Given the description of an element on the screen output the (x, y) to click on. 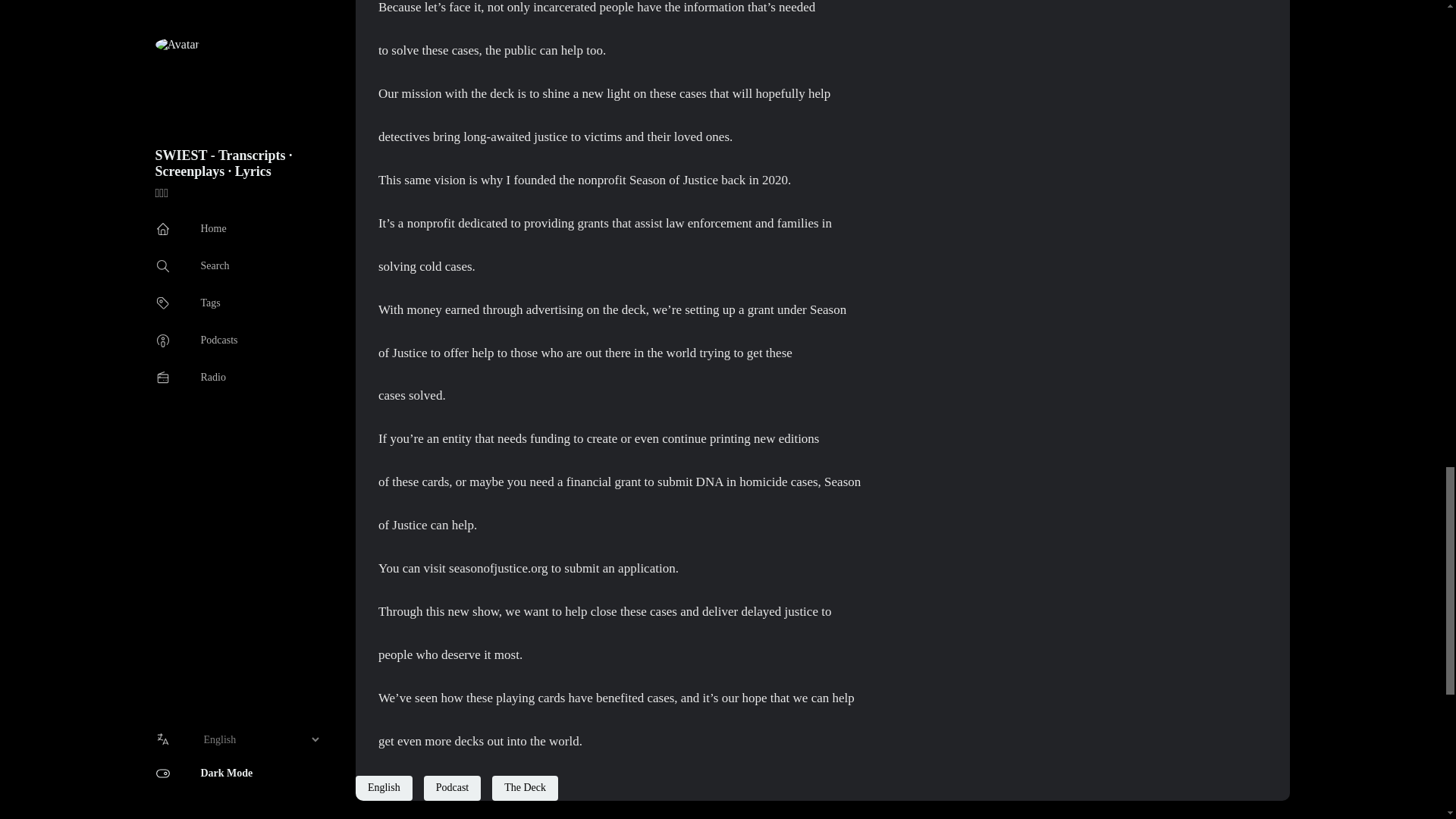
Podcast (452, 787)
The Deck (524, 787)
English (383, 787)
